Given the description of an element on the screen output the (x, y) to click on. 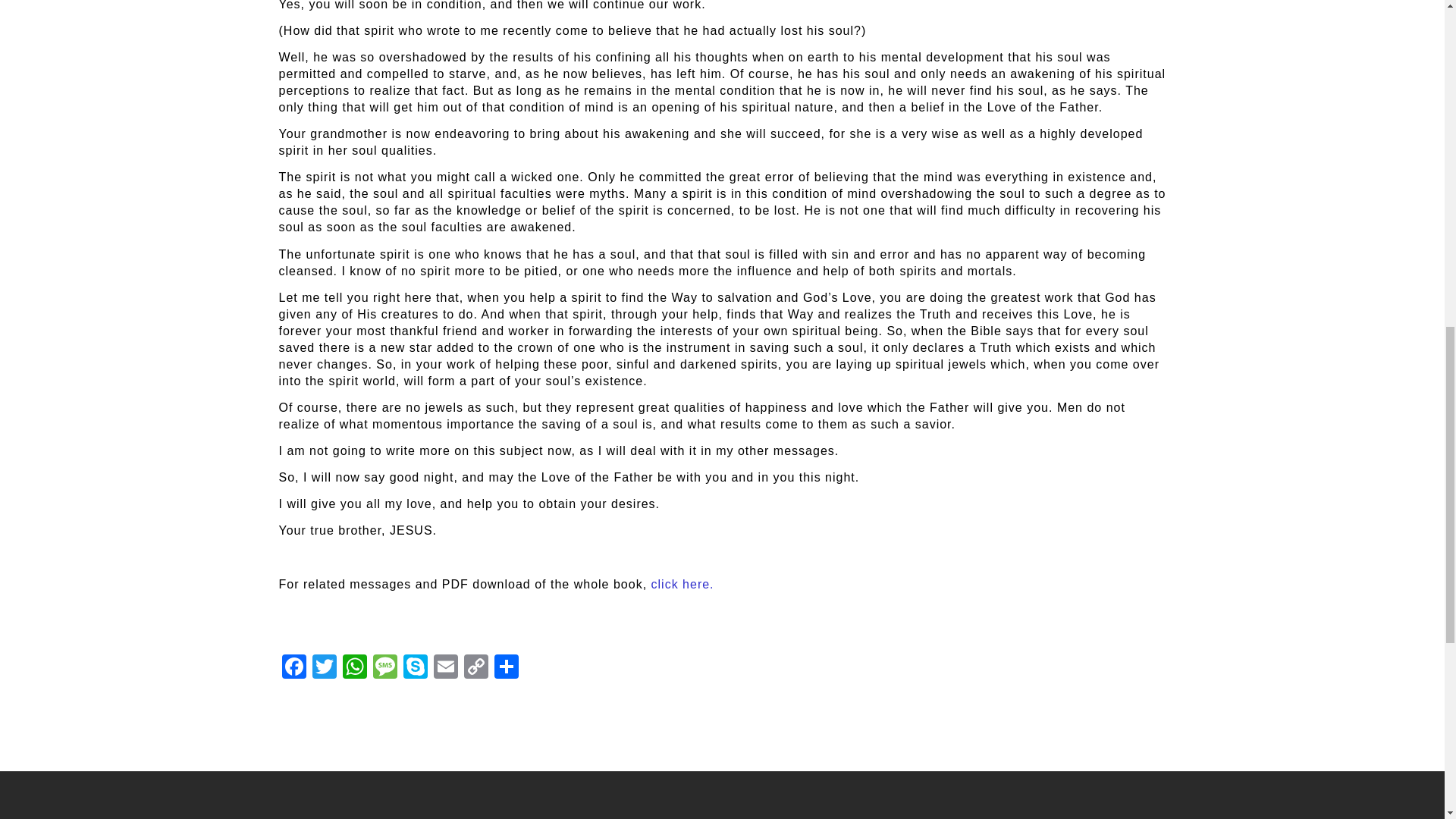
Email (445, 668)
Copy Link (476, 668)
Message (384, 668)
Twitter (323, 668)
Skype (415, 668)
WhatsApp (354, 668)
Facebook (293, 668)
